Given the description of an element on the screen output the (x, y) to click on. 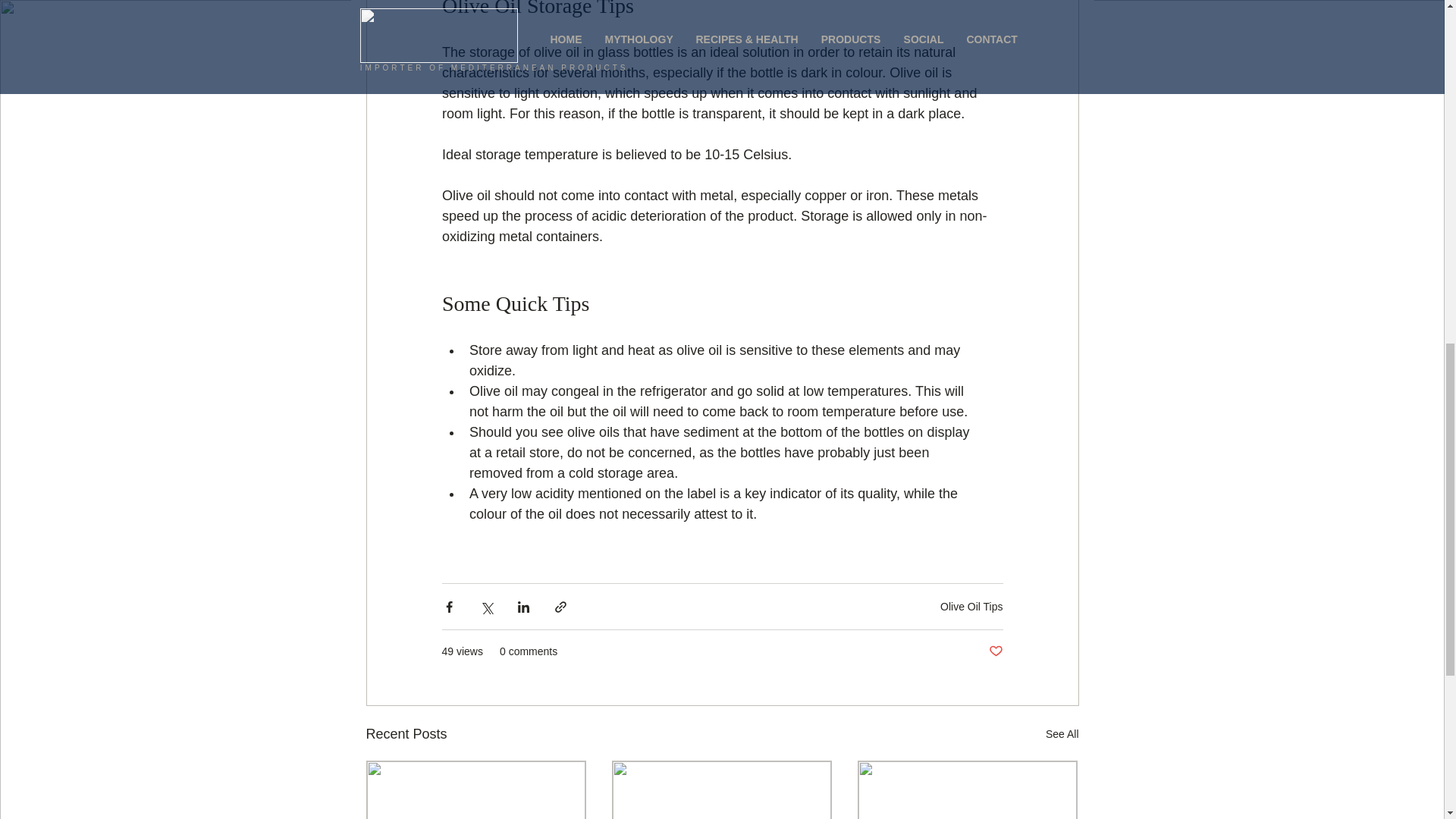
See All (1061, 734)
Post not marked as liked (995, 651)
Olive Oil Tips (971, 606)
